Given the description of an element on the screen output the (x, y) to click on. 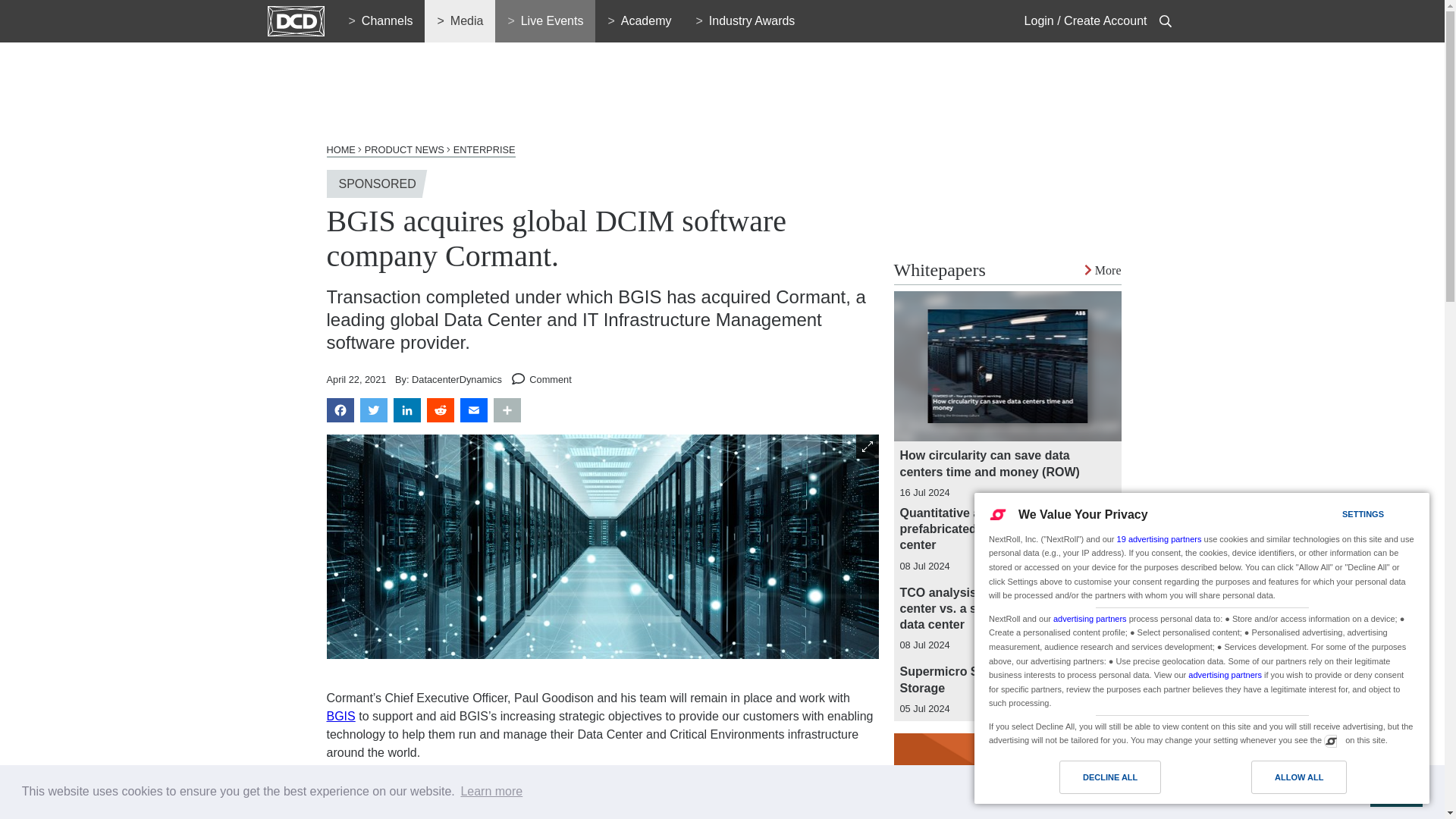
Academy (638, 21)
3rd party ad content (1007, 149)
Channels (380, 21)
3rd party ad content (601, 88)
Live Events (545, 21)
Industry Awards (744, 21)
Got it! (1396, 791)
Learn more (491, 791)
Media (460, 21)
